Given the description of an element on the screen output the (x, y) to click on. 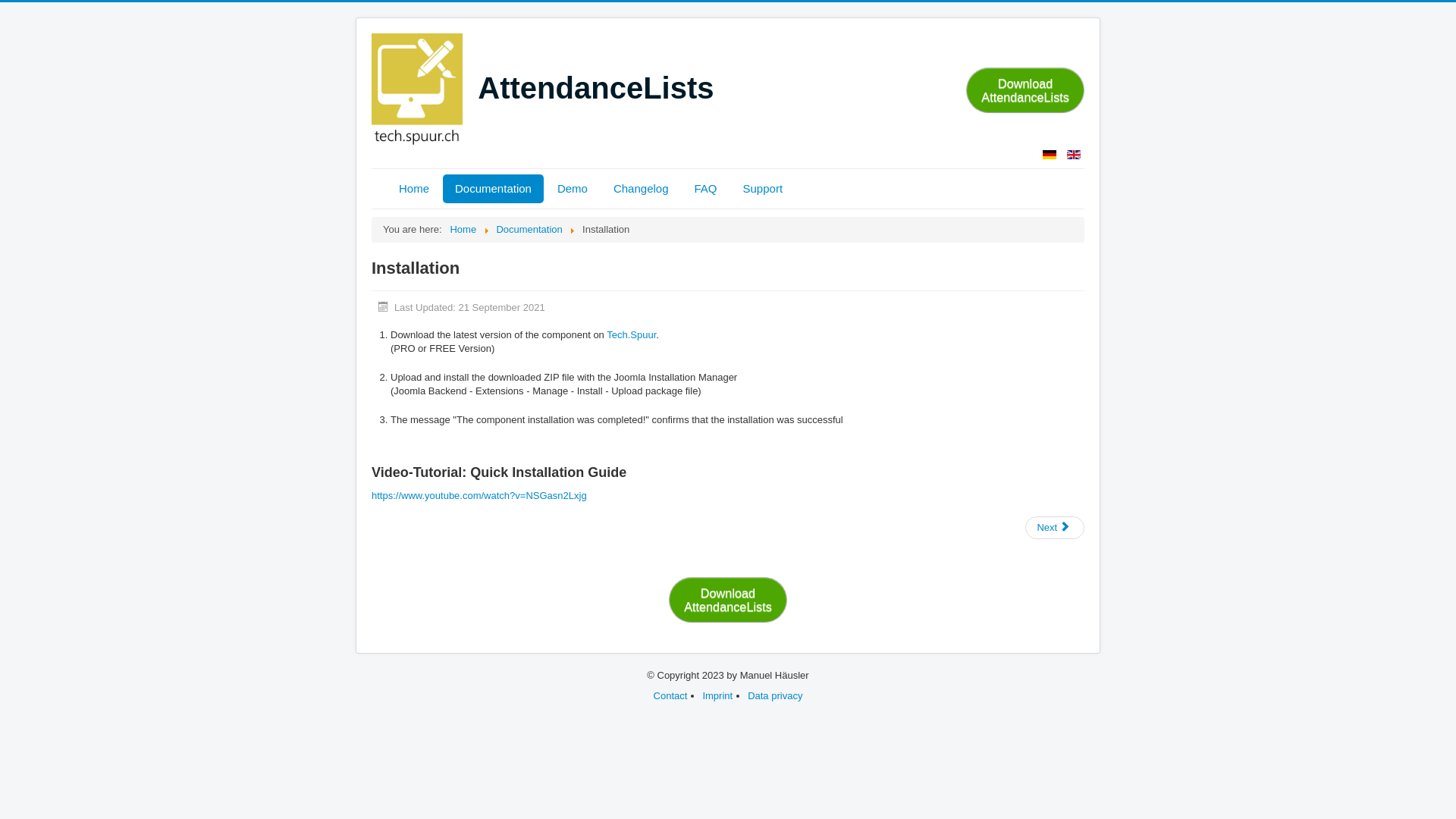
FAQ Element type: text (705, 188)
Home Element type: text (413, 188)
English Element type: hover (1073, 154)
Imprint Element type: text (717, 695)
Next Element type: text (1054, 527)
AttendanceLists Element type: text (542, 90)
Data privacy Element type: text (774, 695)
Download
AttendanceLists Element type: text (1025, 89)
Changelog Element type: text (640, 188)
https://www.youtube.com/watch?v=NSGasn2Lxjg Element type: text (478, 495)
Documentation Element type: text (528, 229)
Demo Element type: text (572, 188)
Home Element type: text (462, 229)
Download
AttendanceLists Element type: text (727, 599)
Support Element type: text (763, 188)
Contact Element type: text (670, 695)
Deutsch Element type: hover (1049, 154)
Documentation Element type: text (492, 188)
Tech.Spuur Element type: text (630, 334)
